Given the description of an element on the screen output the (x, y) to click on. 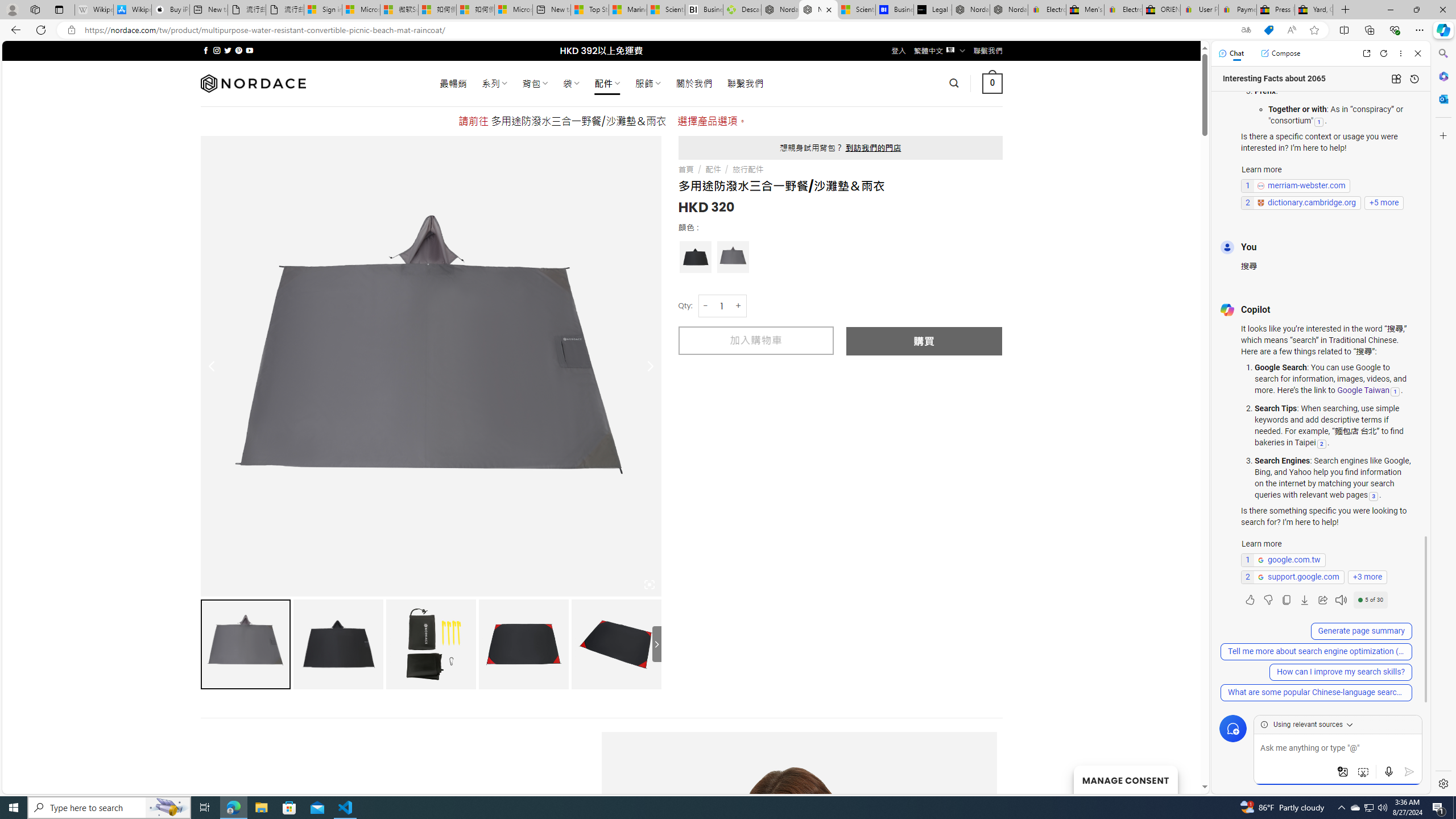
Marine life - MSN (628, 9)
Follow on Instagram (216, 50)
Compose (1280, 52)
Follow on Twitter (227, 50)
Payments Terms of Use | eBay.com (1237, 9)
  0   (992, 83)
